Given the description of an element on the screen output the (x, y) to click on. 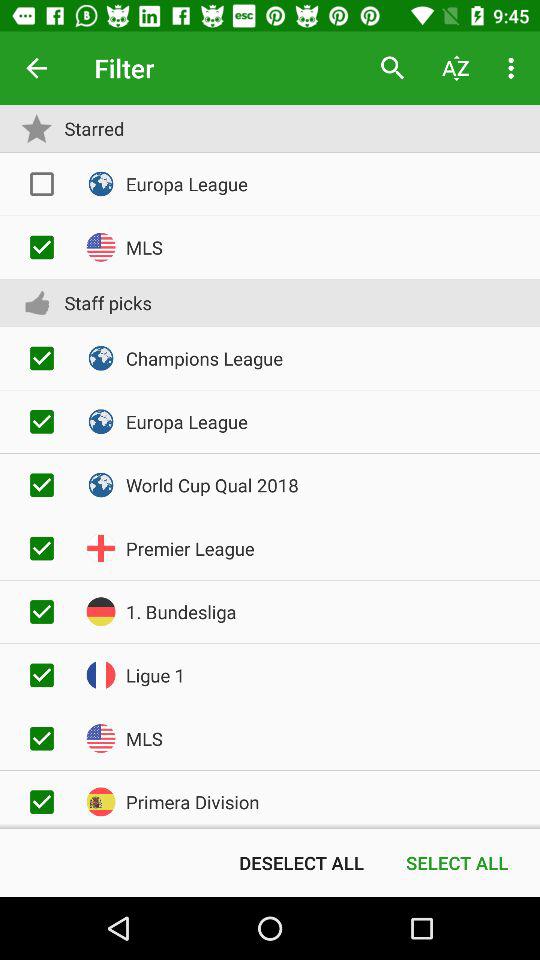
open item next to filter icon (392, 68)
